Given the description of an element on the screen output the (x, y) to click on. 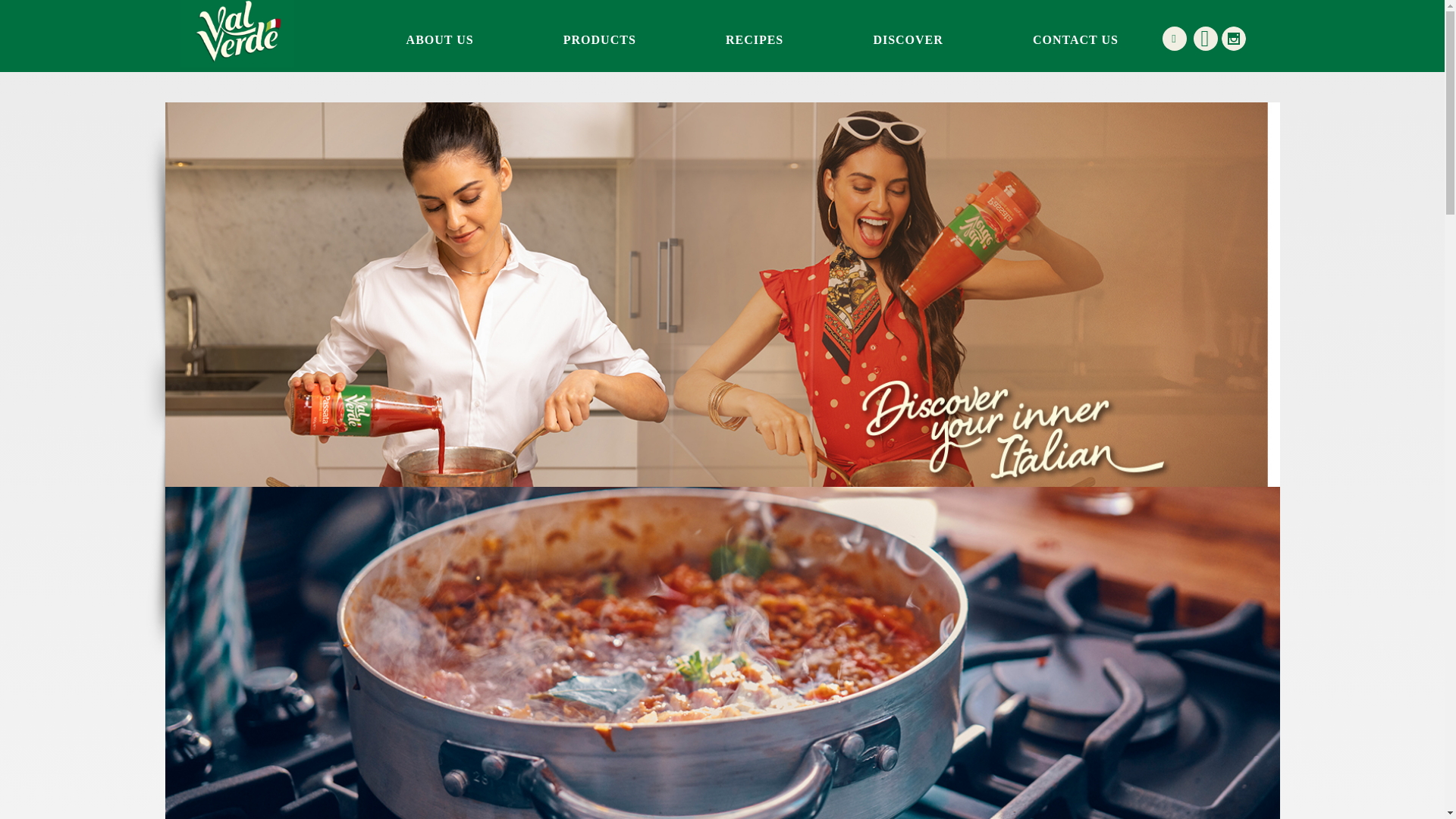
CONTACT US (1075, 39)
ABOUT US (440, 39)
PRODUCTS (599, 39)
Visit our Facebook page (1205, 38)
RECIPES (754, 39)
DISCOVER (907, 39)
